Given the description of an element on the screen output the (x, y) to click on. 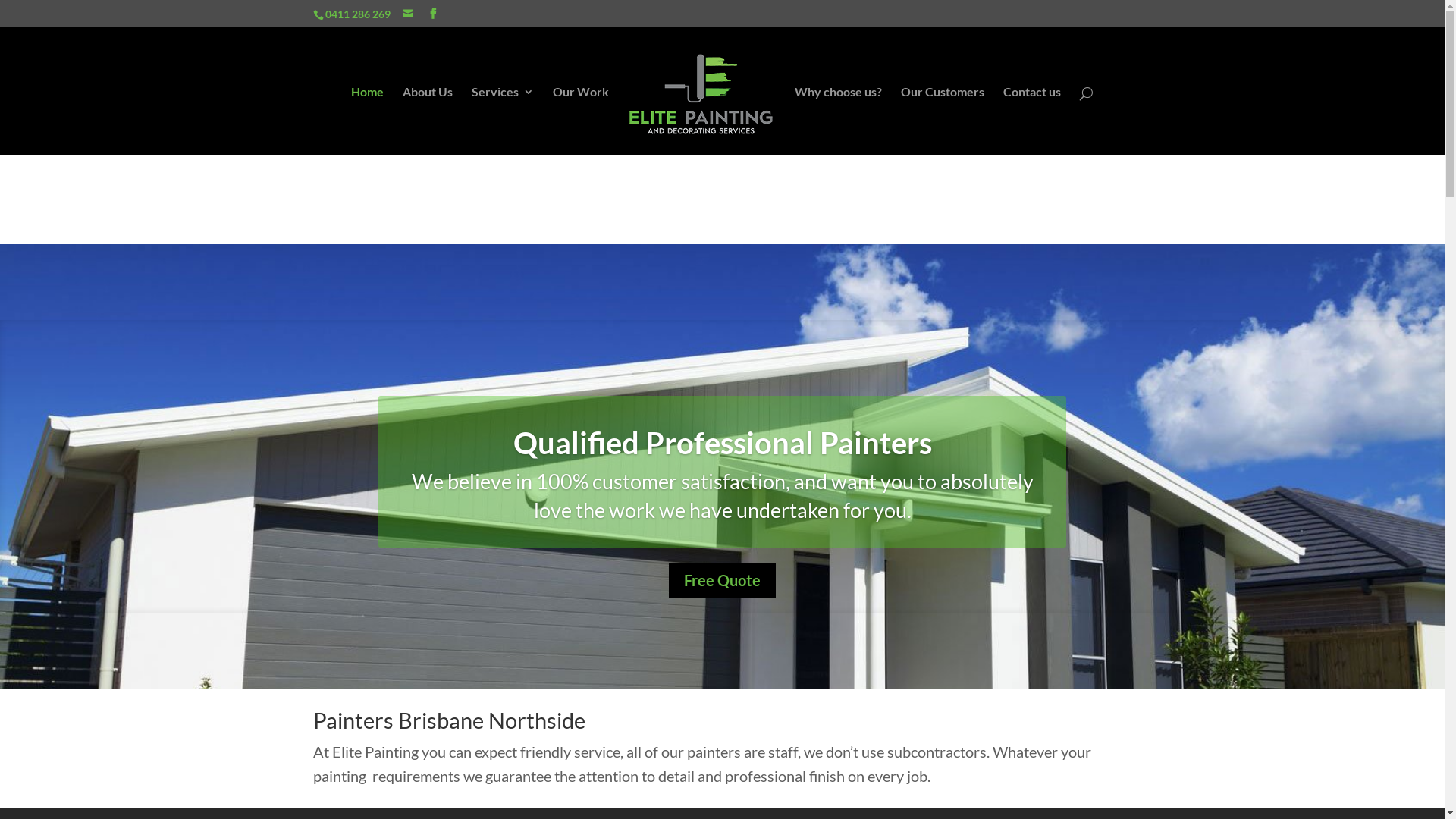
Home Element type: text (367, 120)
Our Customers Element type: text (942, 120)
Services Element type: text (502, 120)
Qualified Professional Painters Element type: text (721, 442)
0411 286 269 Element type: text (356, 13)
Contact us Element type: text (1031, 120)
Free Quote Element type: text (721, 579)
Our Work Element type: text (580, 120)
Why choose us? Element type: text (837, 120)
About Us Element type: text (427, 120)
